Given the description of an element on the screen output the (x, y) to click on. 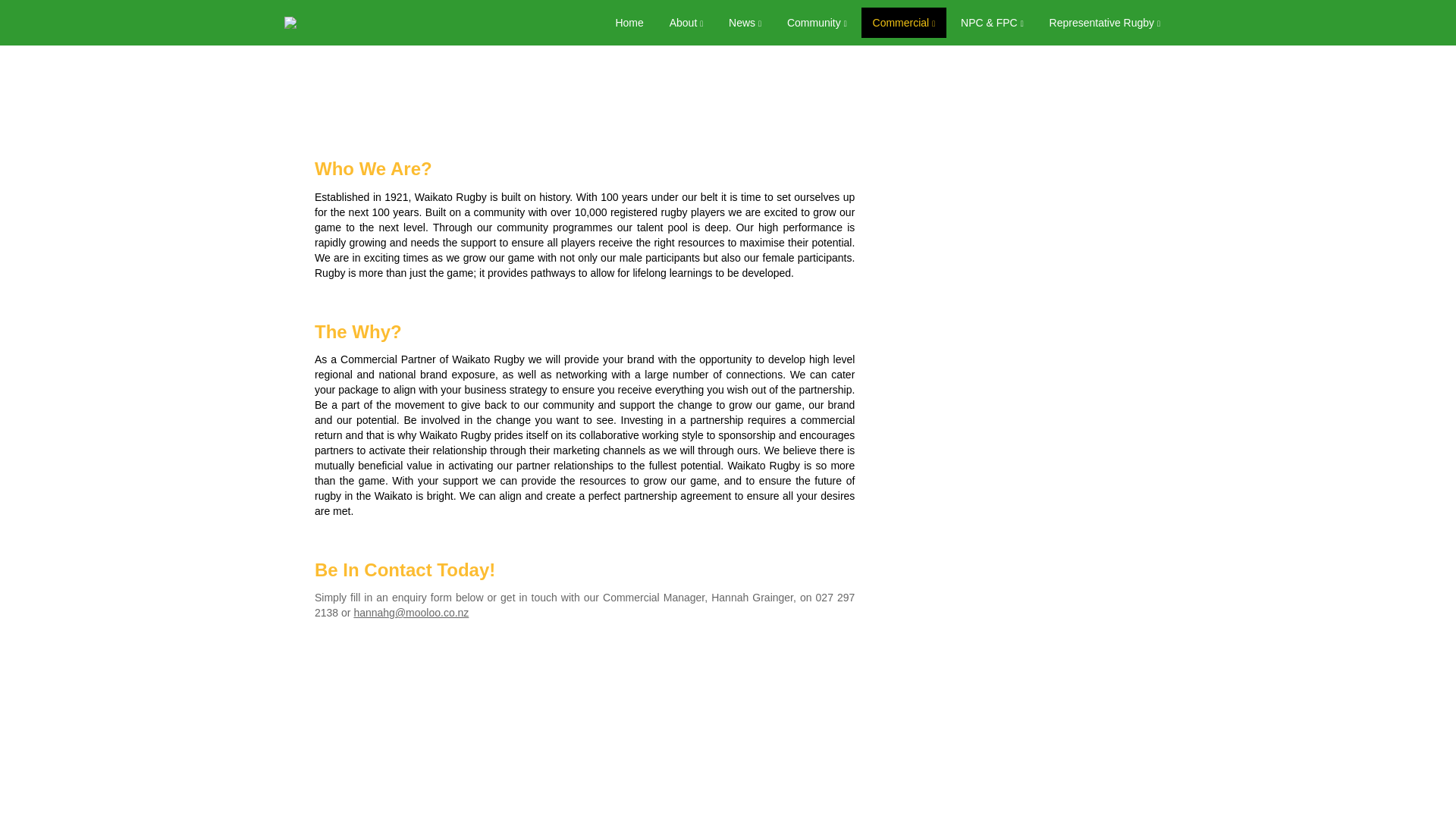
News (745, 22)
Community (817, 22)
Home (628, 22)
About (686, 22)
